Given the description of an element on the screen output the (x, y) to click on. 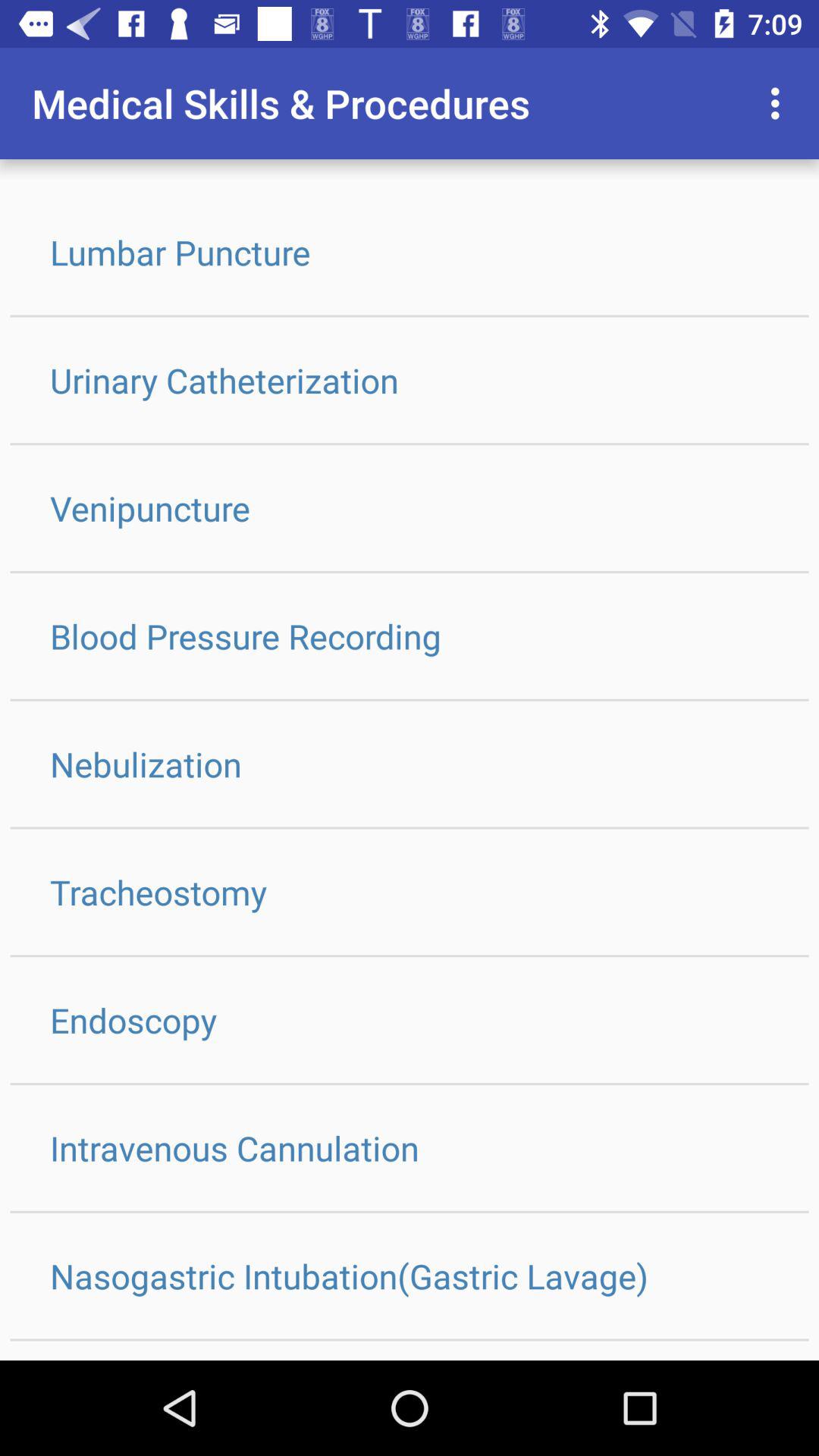
select icon below tracheostomy (409, 1019)
